Given the description of an element on the screen output the (x, y) to click on. 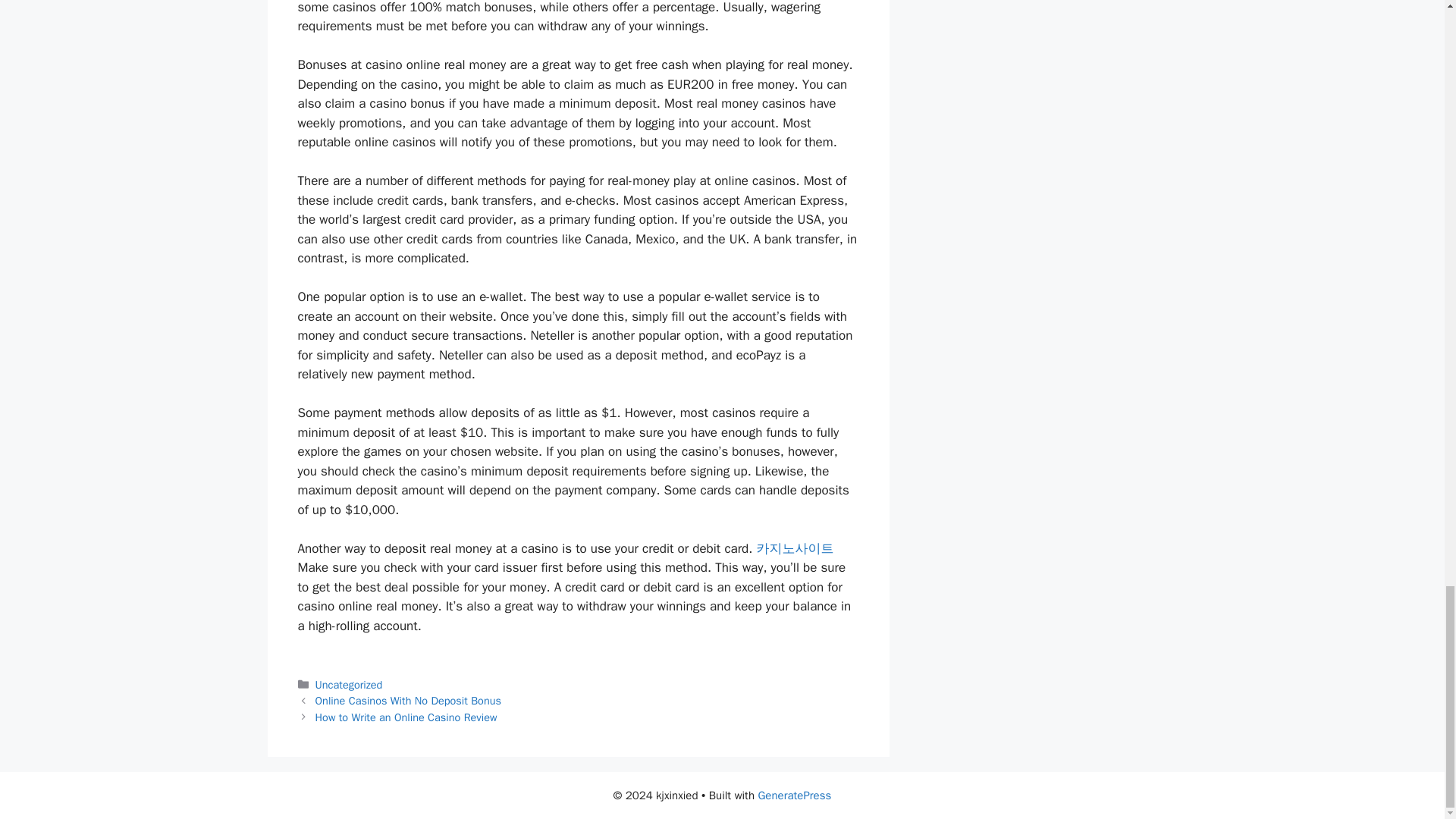
Previous (407, 700)
Next (406, 716)
Uncategorized (348, 684)
How to Write an Online Casino Review (406, 716)
GeneratePress (794, 795)
Online Casinos With No Deposit Bonus (407, 700)
